Given the description of an element on the screen output the (x, y) to click on. 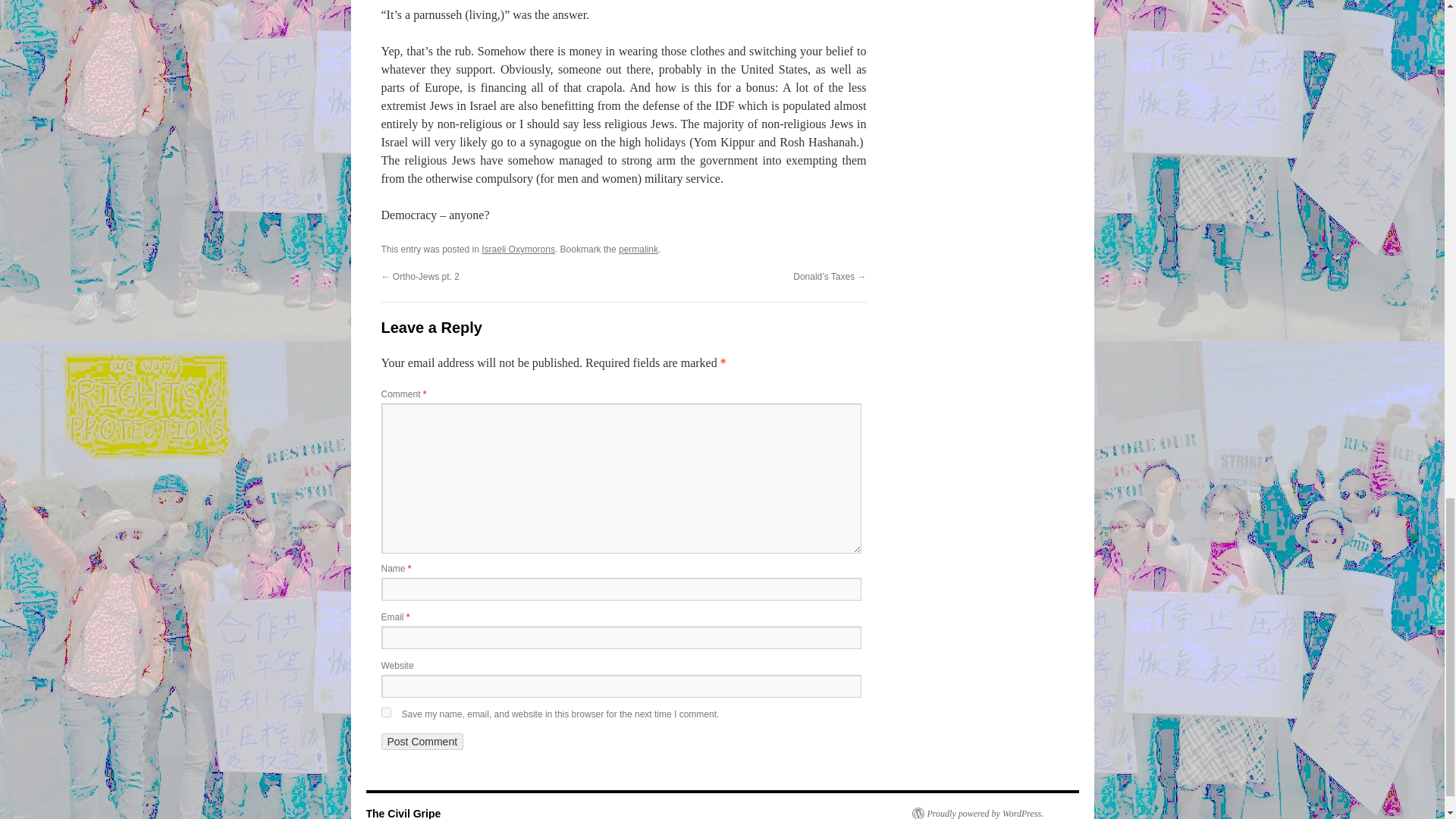
Permalink to Ortho-Jews pt. 3 (638, 249)
yes (385, 712)
Post Comment (421, 741)
permalink (638, 249)
Israeli Oxymorons (517, 249)
Post Comment (421, 741)
